Given the description of an element on the screen output the (x, y) to click on. 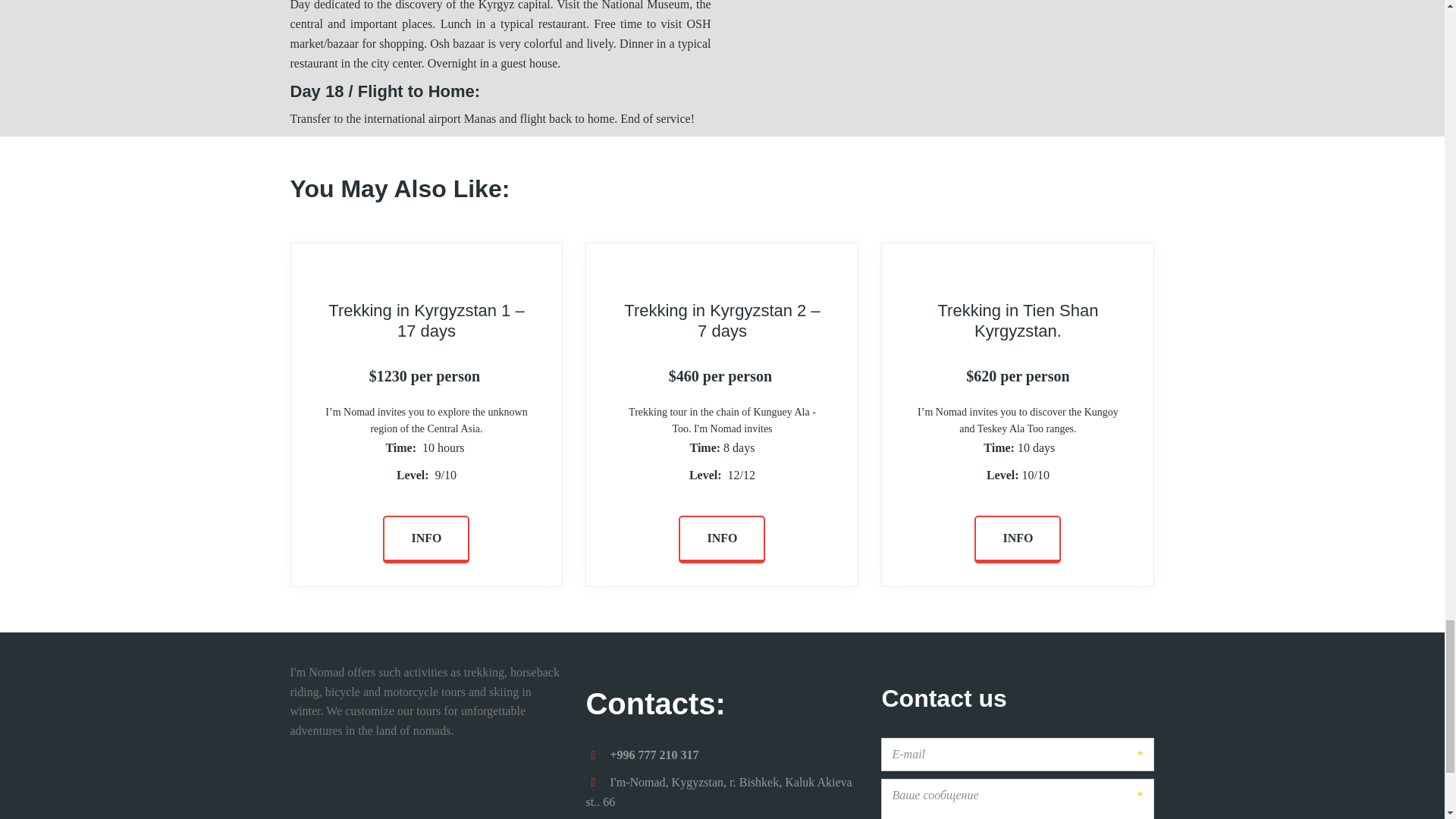
INFO (425, 539)
INFO (721, 539)
INFO (1017, 539)
